Given the description of an element on the screen output the (x, y) to click on. 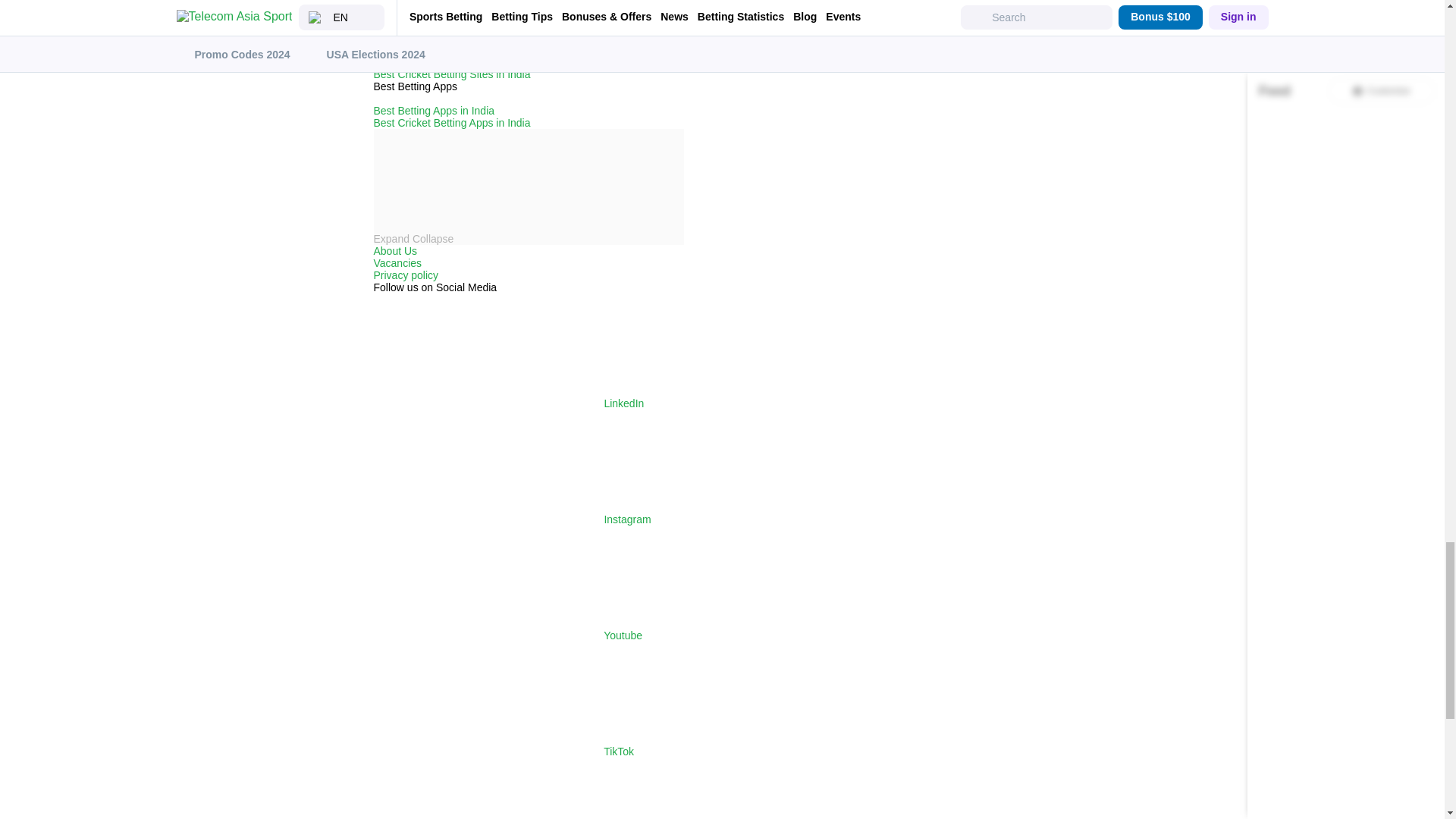
TikTok (502, 751)
Youtube (507, 635)
LinkedIn (507, 403)
Instagram (511, 519)
